Given the description of an element on the screen output the (x, y) to click on. 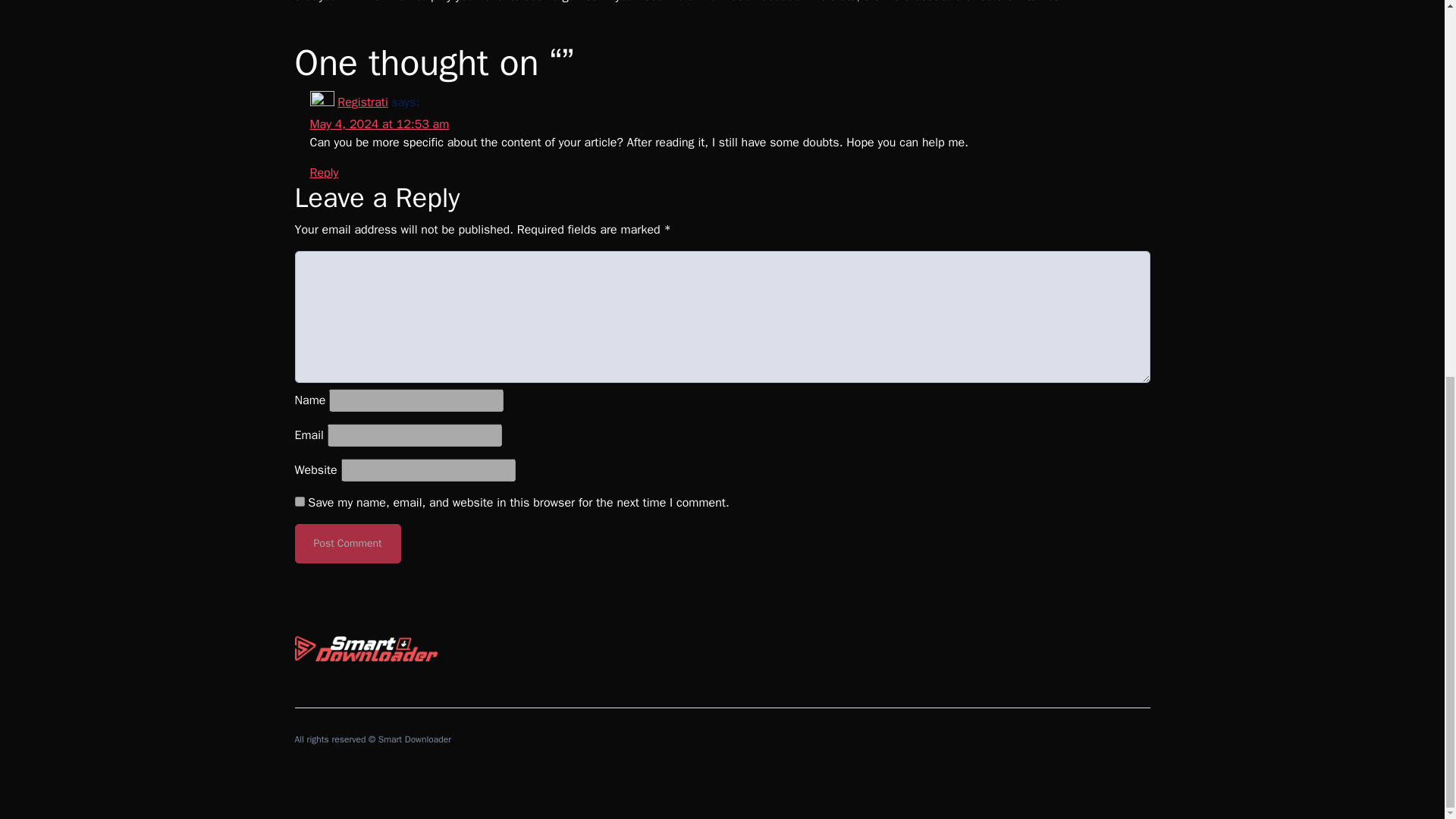
yes (299, 501)
Registrati (362, 102)
Post Comment (347, 543)
May 4, 2024 at 12:53 am (378, 124)
Reply (322, 172)
Post Comment (347, 543)
